Given the description of an element on the screen output the (x, y) to click on. 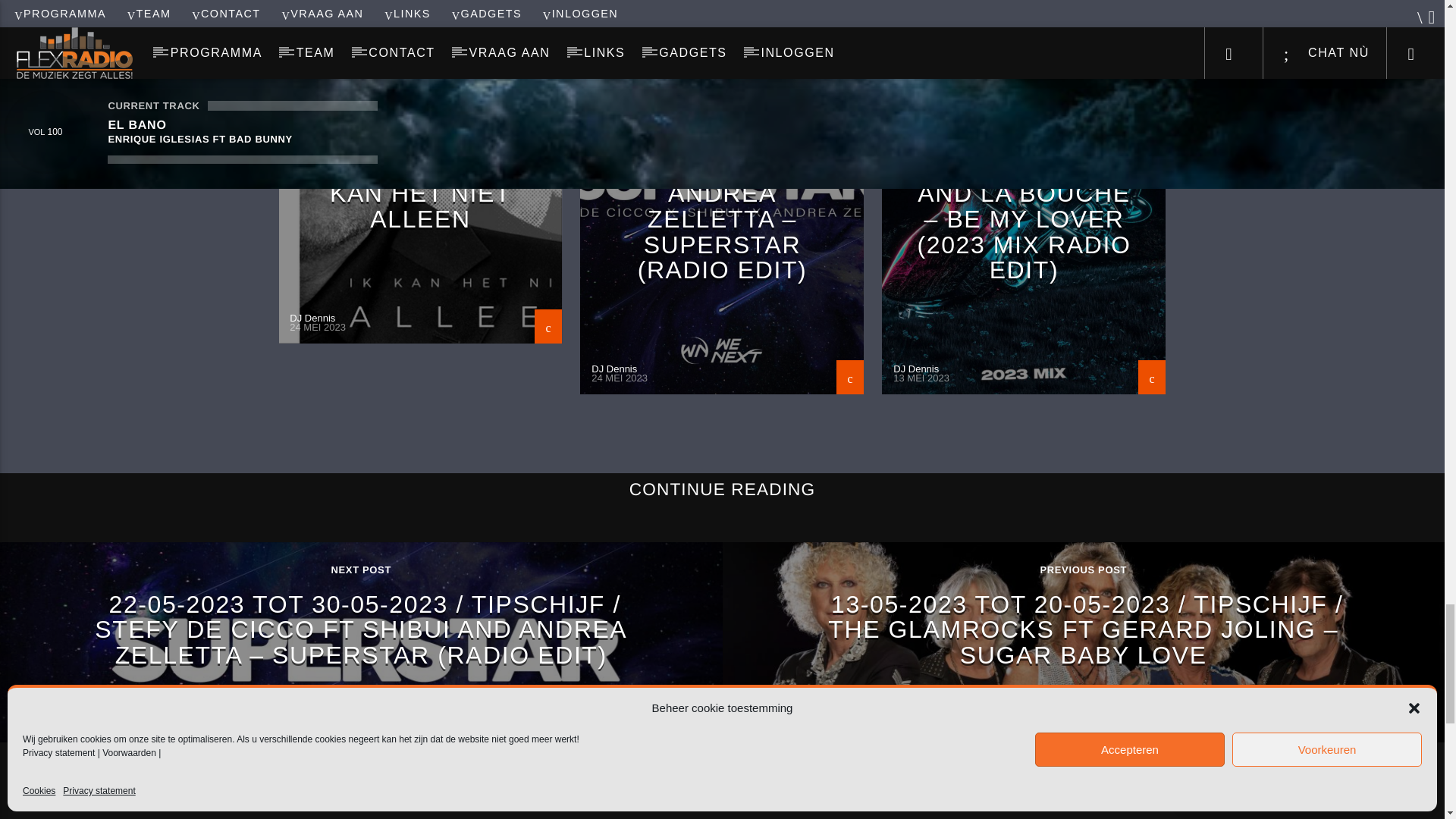
Berichten van DJ Dennis (311, 317)
Berichten van DJ Dennis (614, 368)
Berichten van DJ Dennis (916, 368)
